Given the description of an element on the screen output the (x, y) to click on. 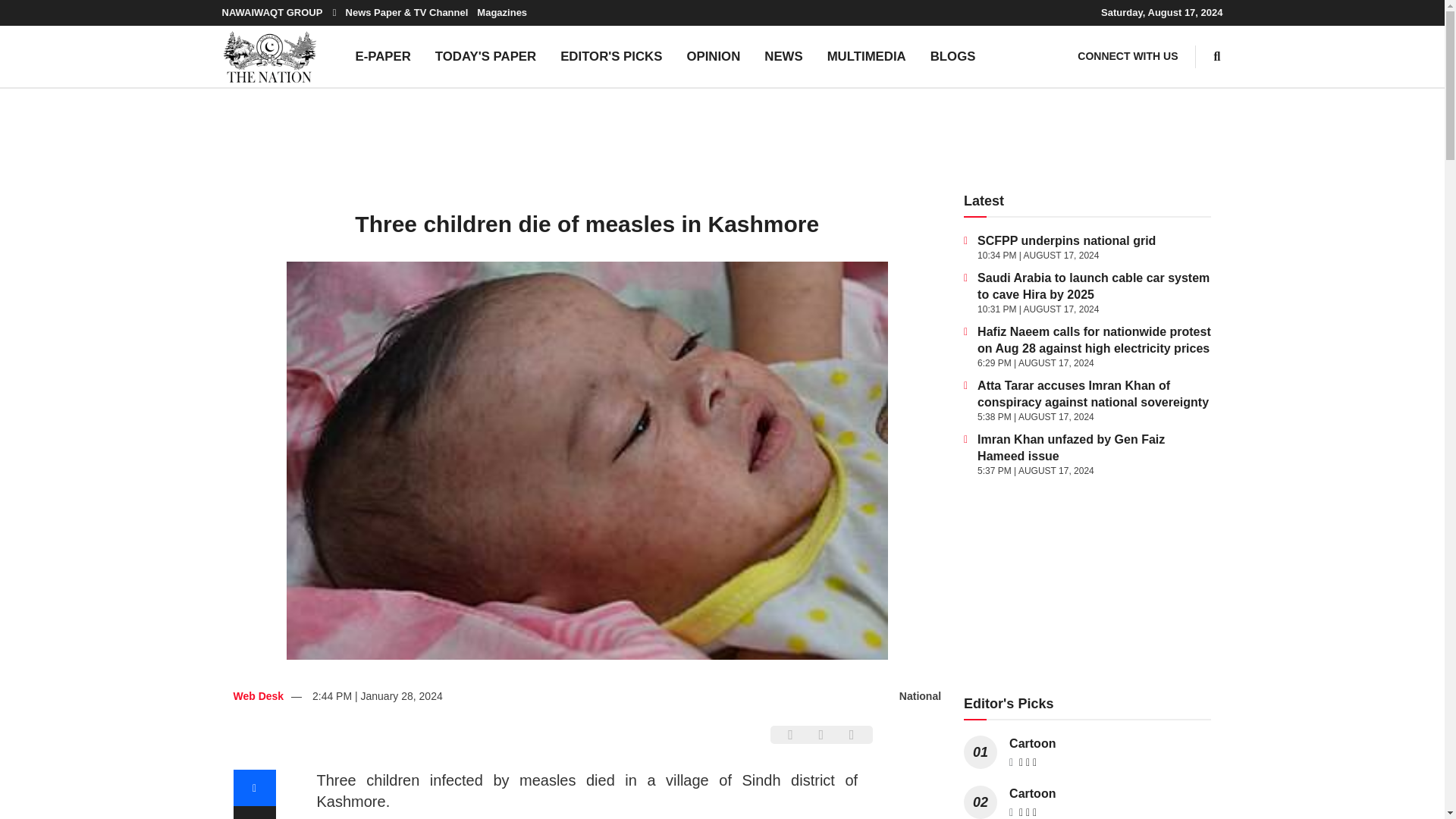
NEWS (782, 55)
Magazines (502, 12)
BLOGS (953, 55)
TODAY'S PAPER (485, 55)
MULTIMEDIA (866, 55)
OPINION (713, 55)
EDITOR'S PICKS (611, 55)
E-PAPER (382, 55)
